Given the description of an element on the screen output the (x, y) to click on. 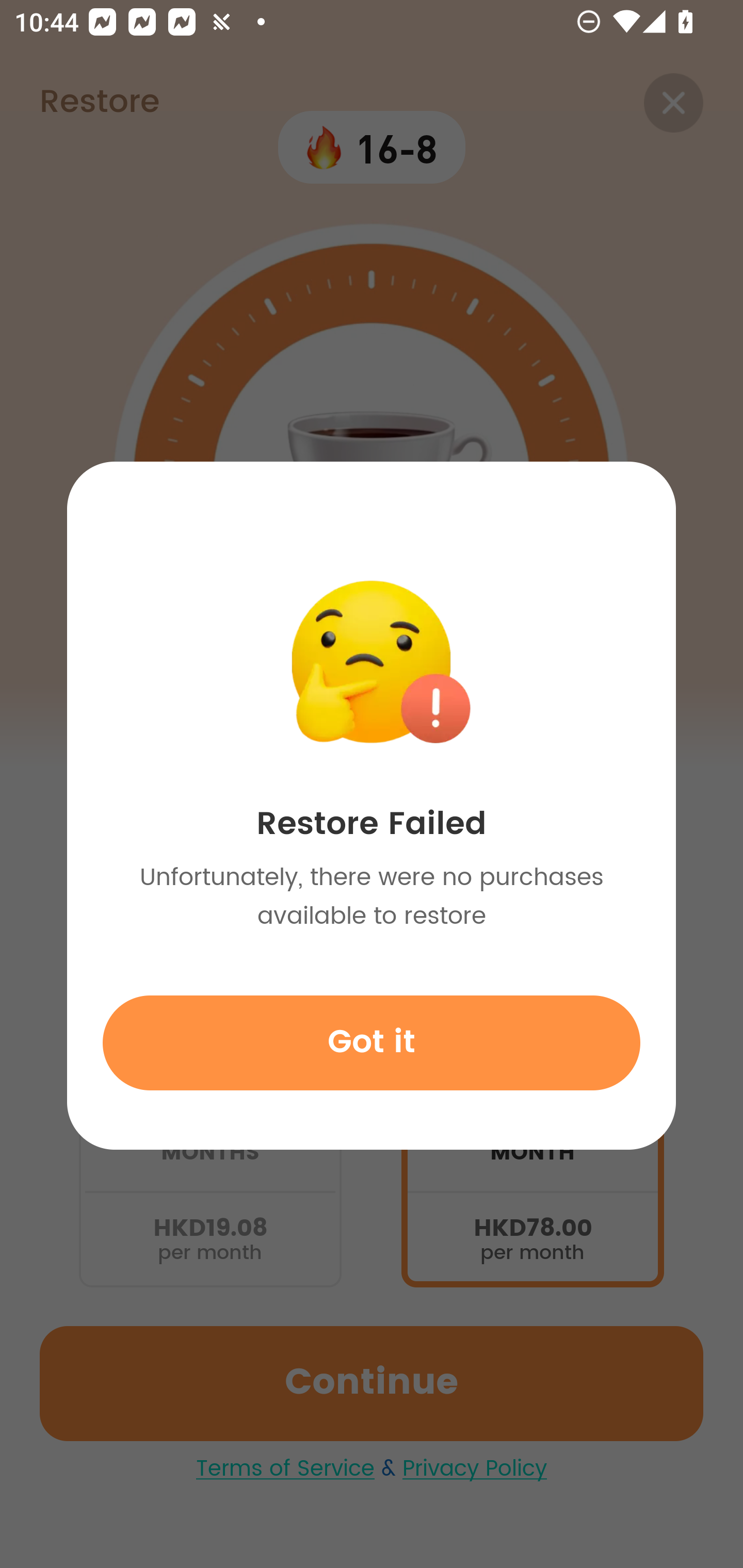
Got it (371, 1042)
